Given the description of an element on the screen output the (x, y) to click on. 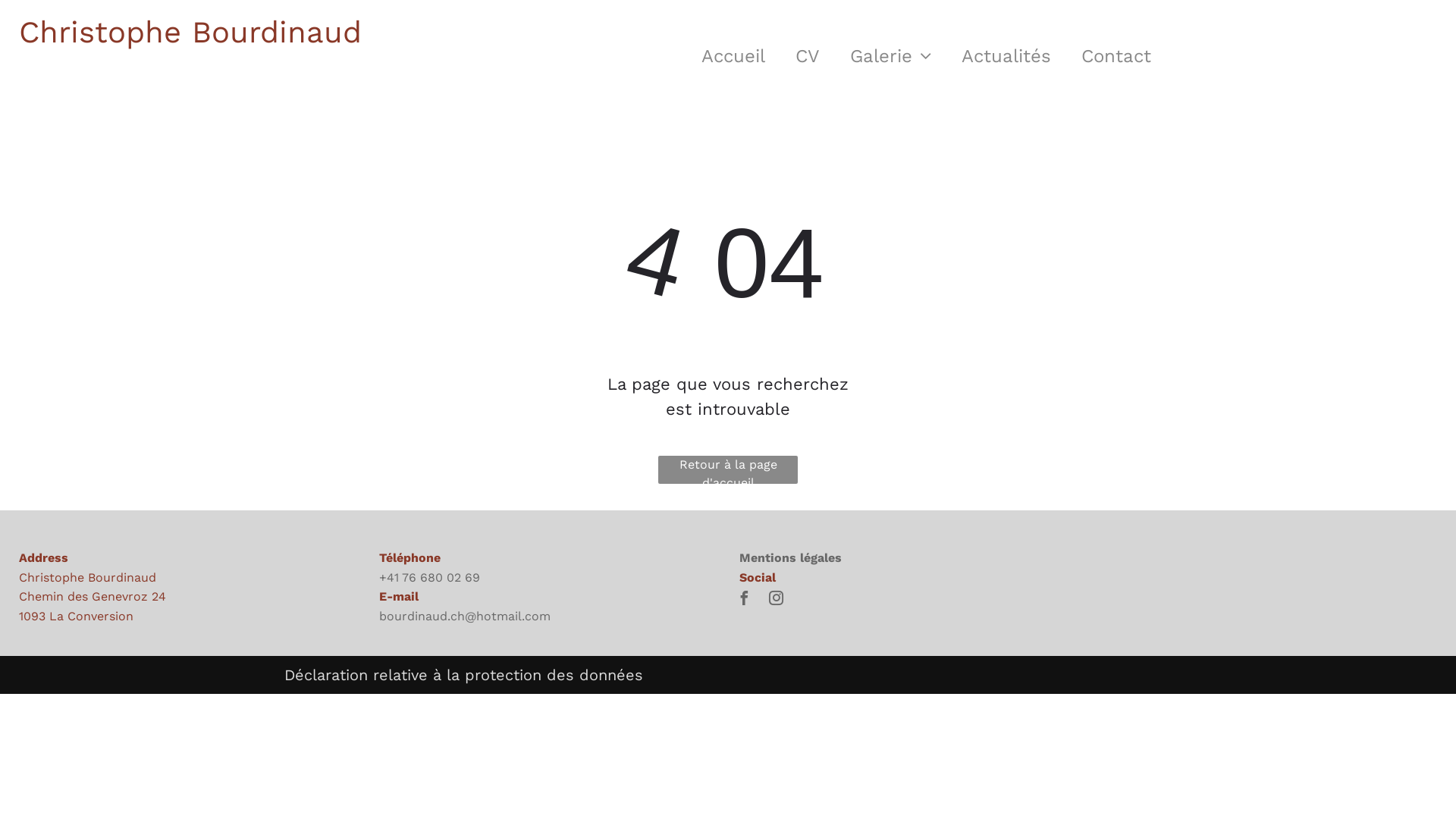
+41 76 680 02 69 Element type: text (429, 577)
Contact Element type: text (1116, 54)
CV Element type: text (807, 54)
Accueil Element type: text (733, 54)
Christophe Bourdinaud Element type: text (189, 31)
Galerie Element type: text (890, 54)
bourdinaud.ch@hotmail.com Element type: text (464, 625)
